Given the description of an element on the screen output the (x, y) to click on. 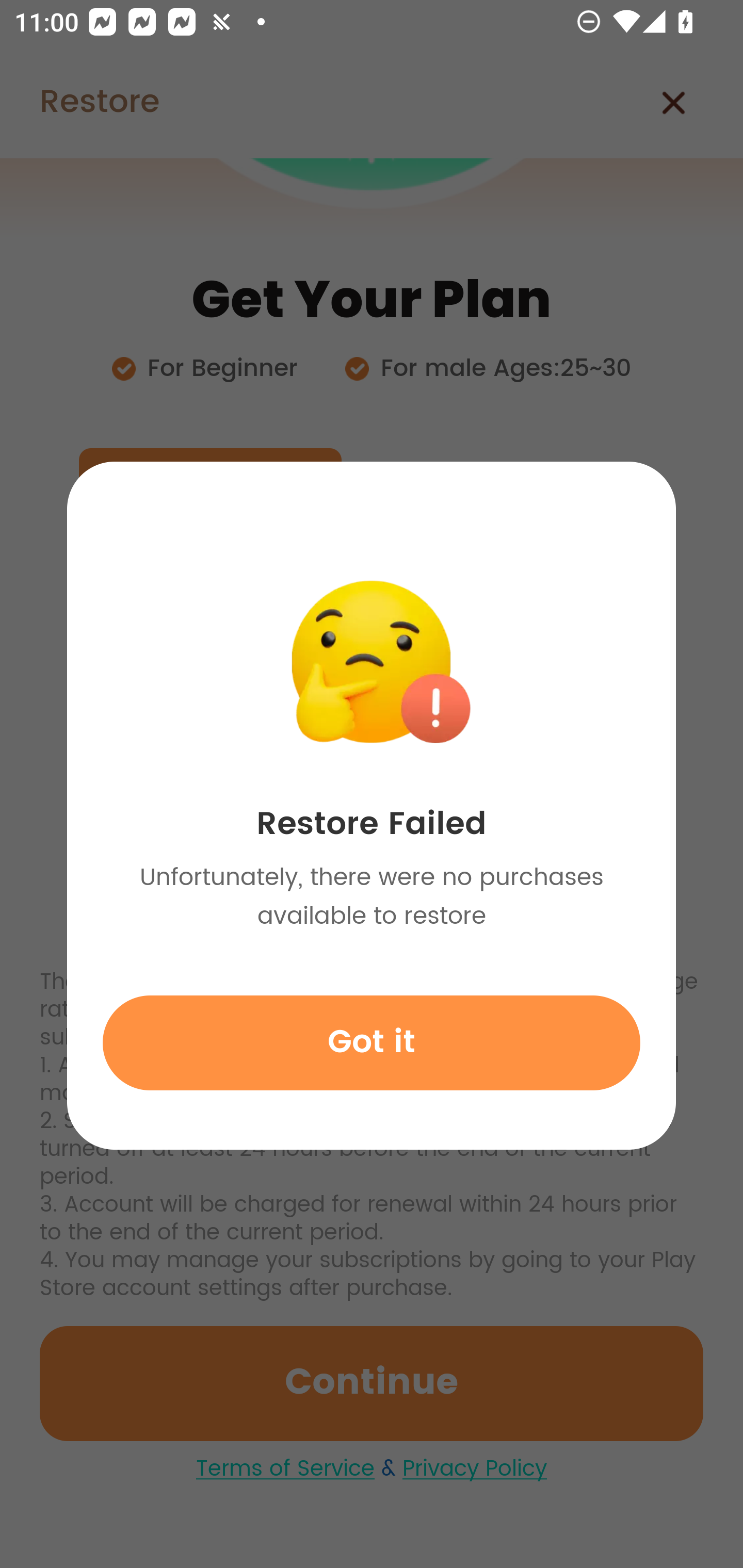
Got it (371, 1042)
